Given the description of an element on the screen output the (x, y) to click on. 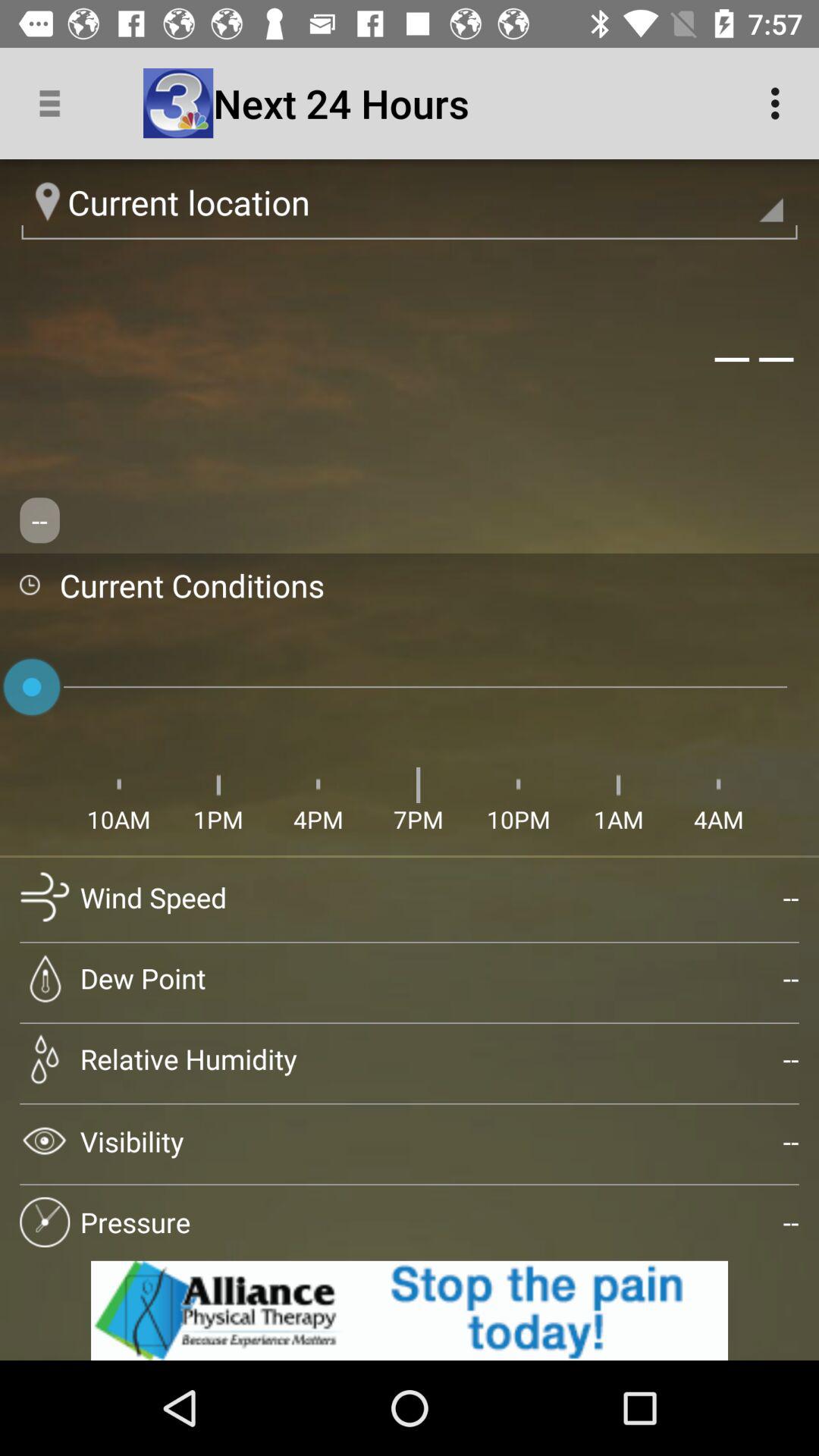
for advertisement (409, 1310)
